Given the description of an element on the screen output the (x, y) to click on. 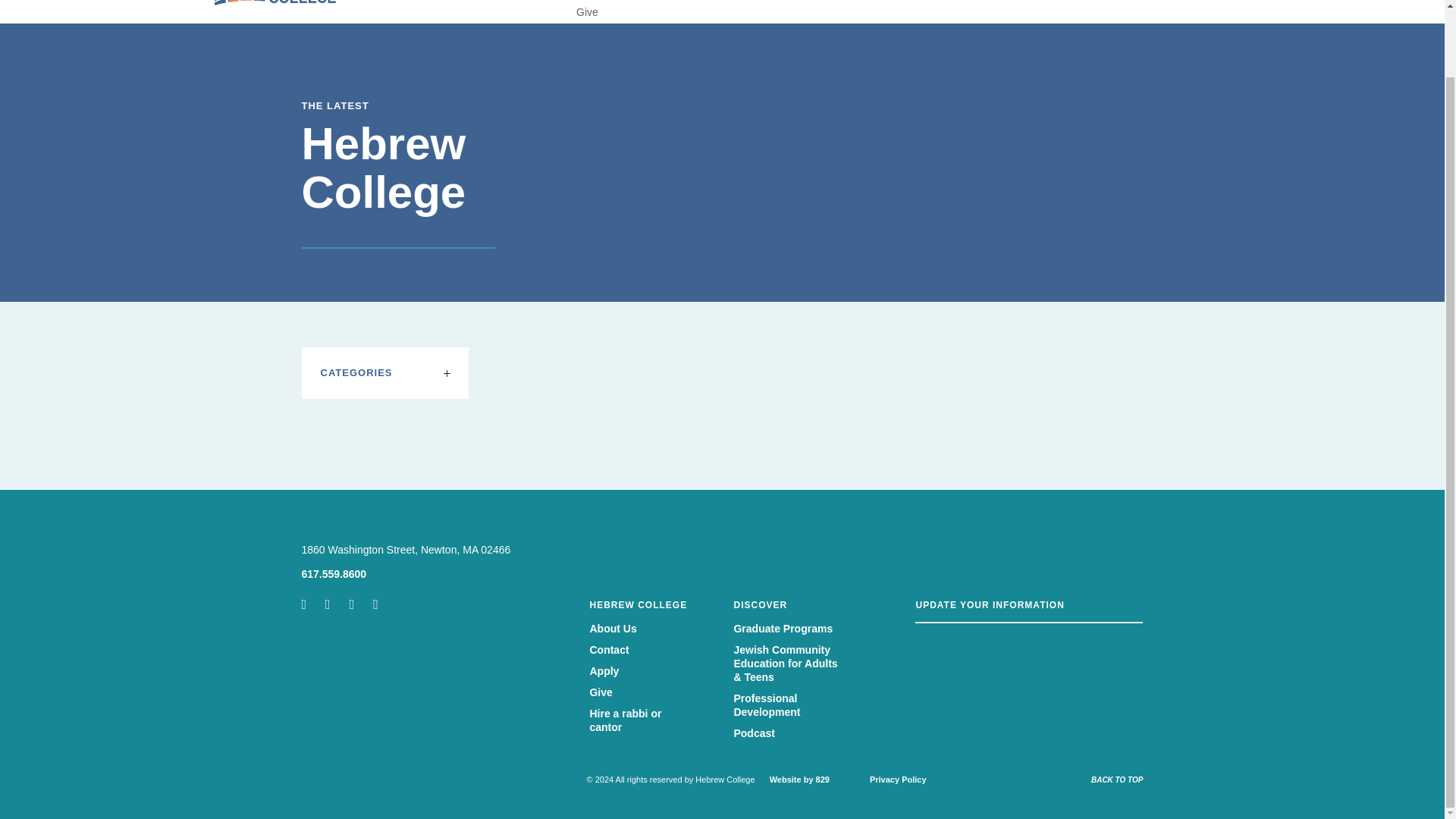
Website by 829 (799, 778)
Privacy Policy (897, 778)
BACK TO TOP (1116, 779)
